Given the description of an element on the screen output the (x, y) to click on. 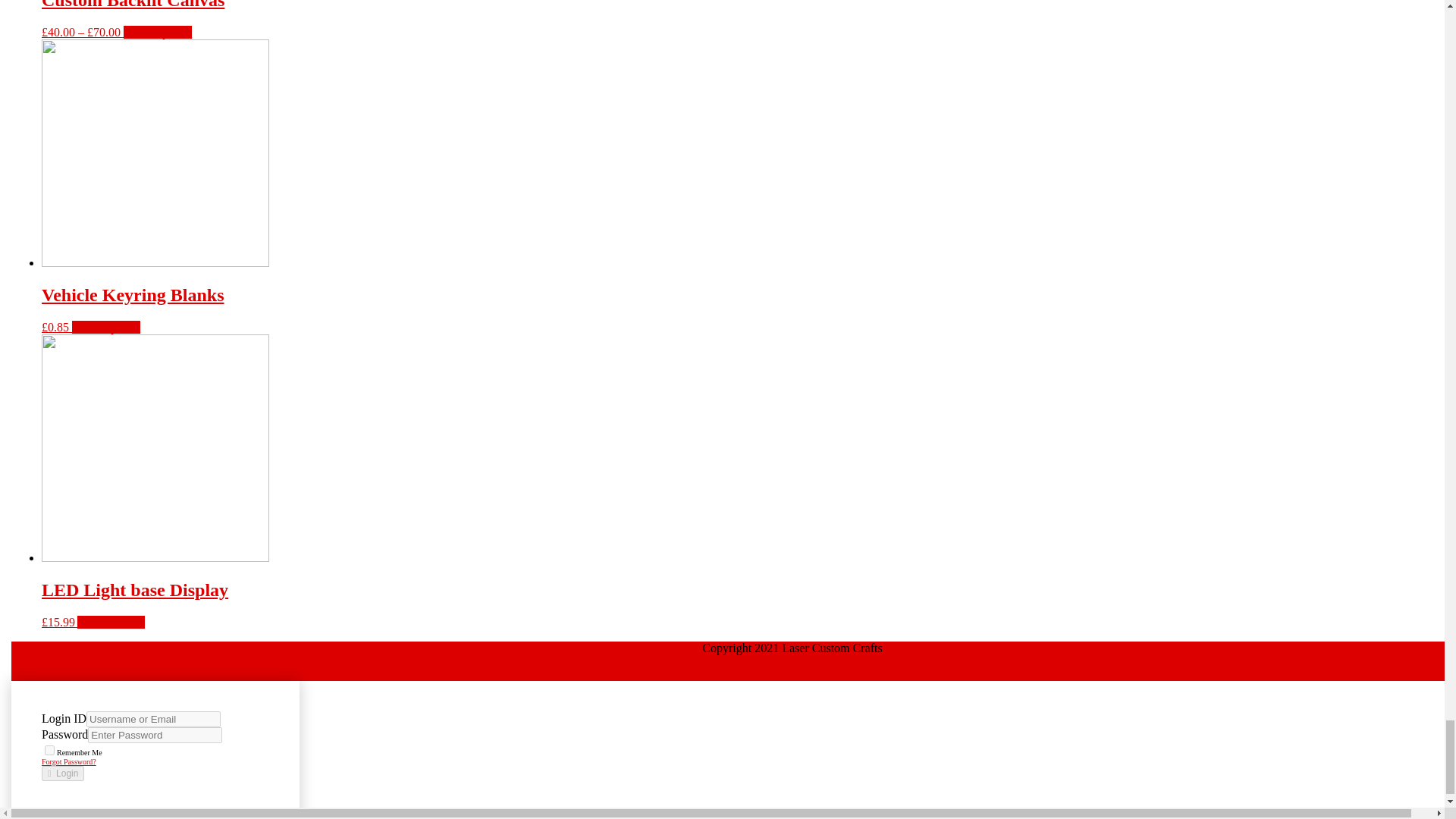
forever (50, 750)
